Given the description of an element on the screen output the (x, y) to click on. 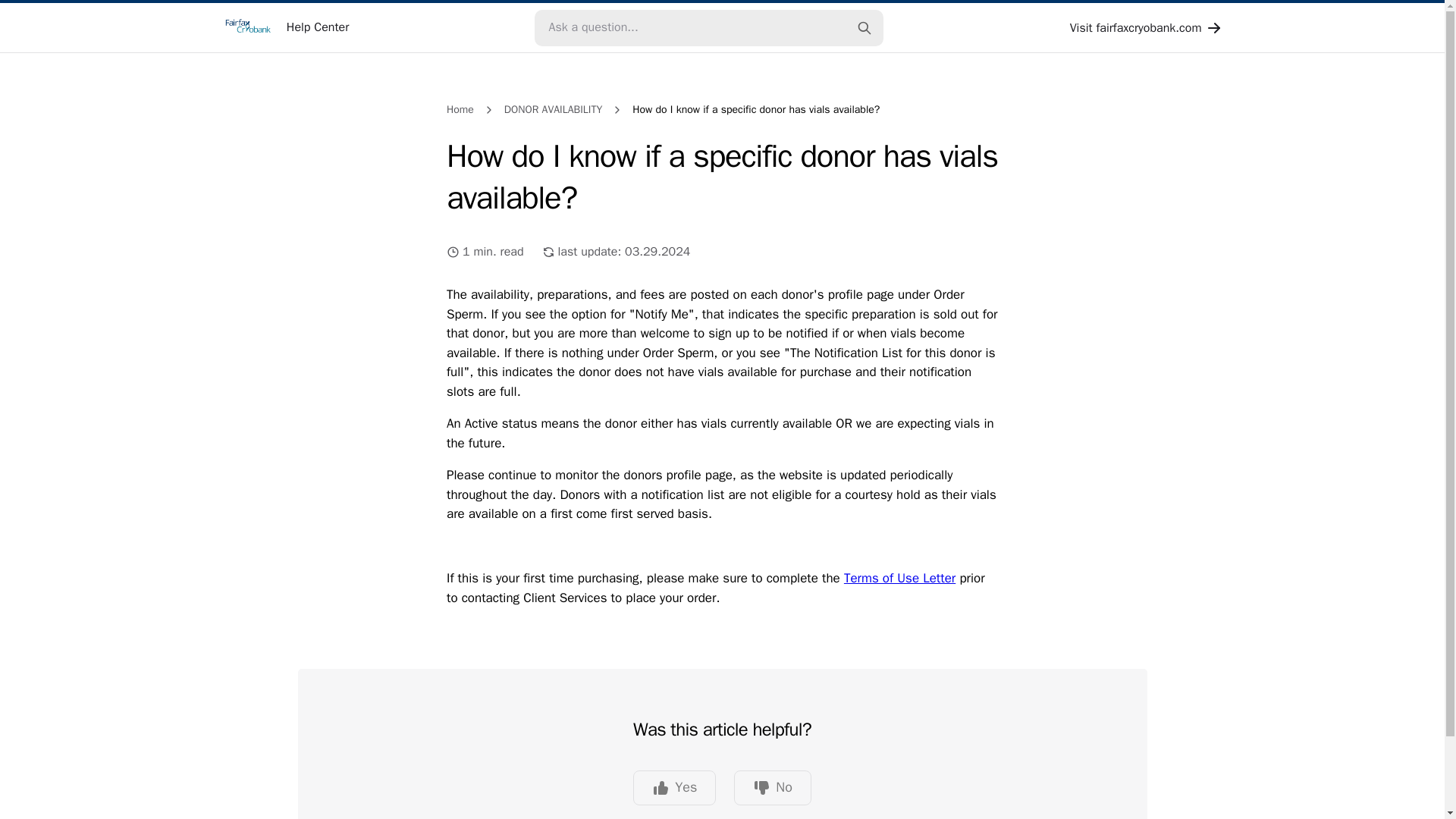
Visit fairfaxcryobank.com (1146, 27)
Home (460, 109)
Help Center (285, 27)
No (771, 787)
Terms of Use Letter (899, 578)
DONOR AVAILABILITY (552, 109)
Yes (674, 787)
